Given the description of an element on the screen output the (x, y) to click on. 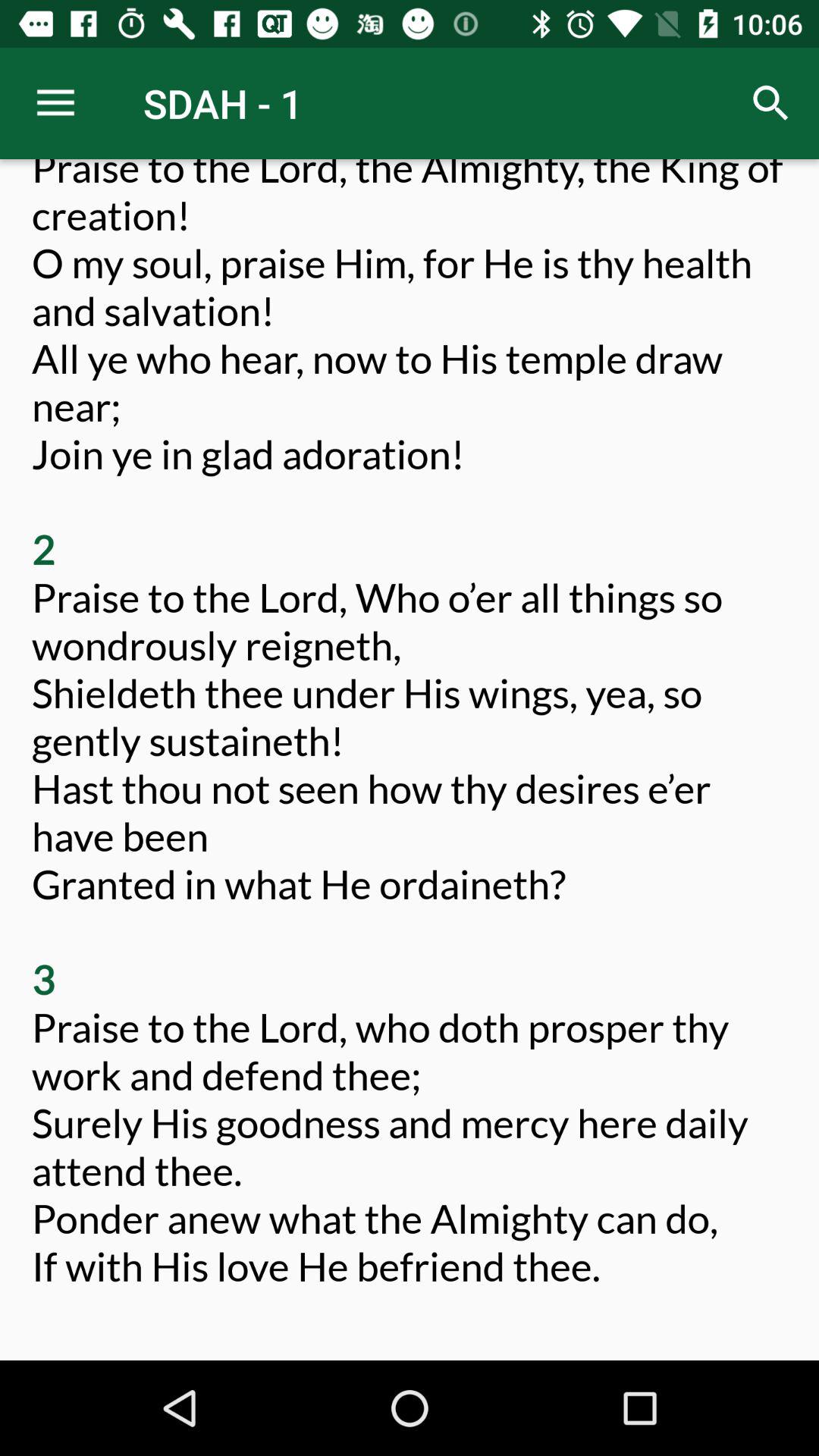
choose icon above 001 praise to item (771, 103)
